Given the description of an element on the screen output the (x, y) to click on. 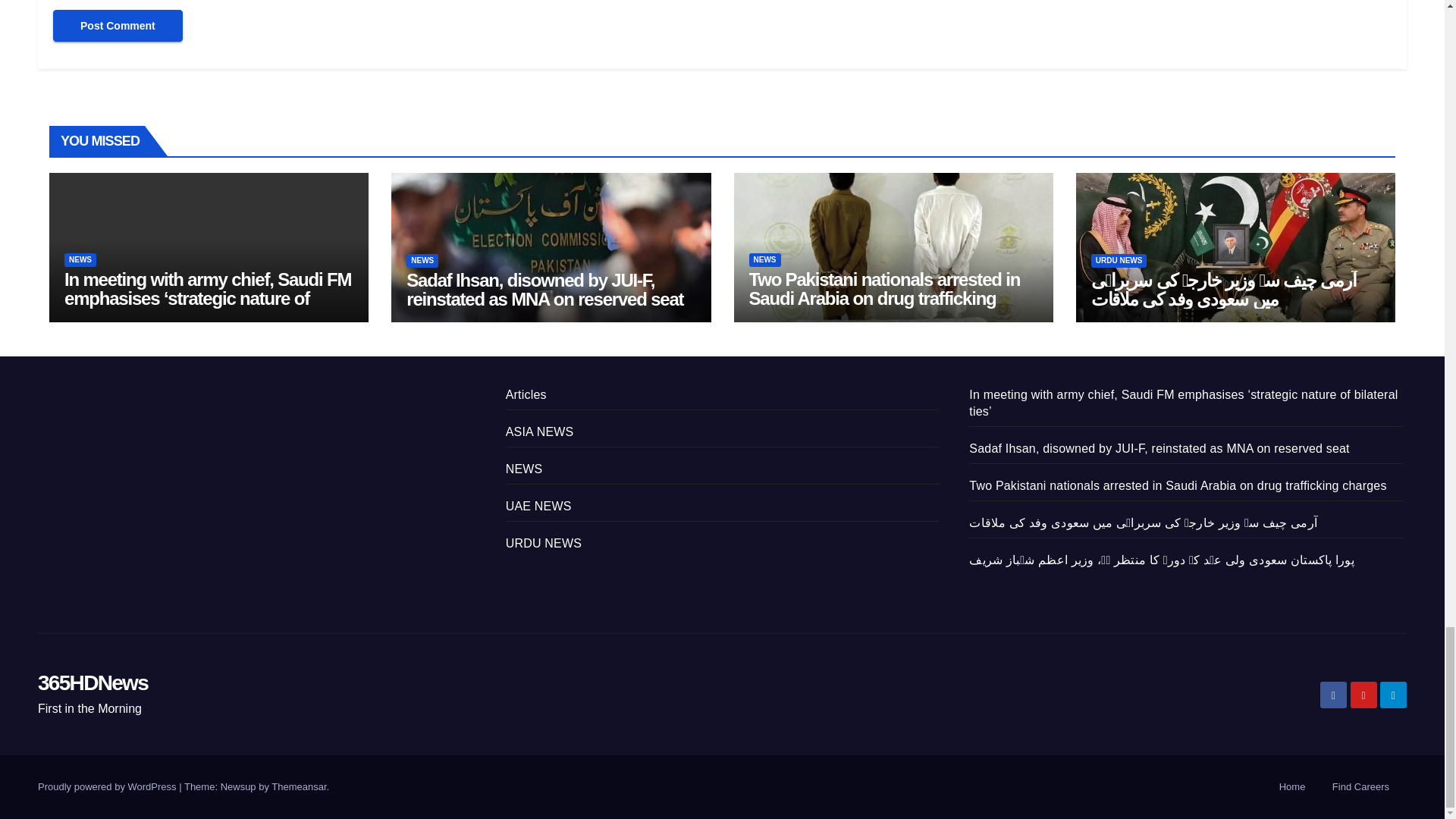
Post Comment (117, 25)
Find Careers (1360, 786)
NEWS (80, 259)
Post Comment (117, 25)
Home (1291, 786)
